Given the description of an element on the screen output the (x, y) to click on. 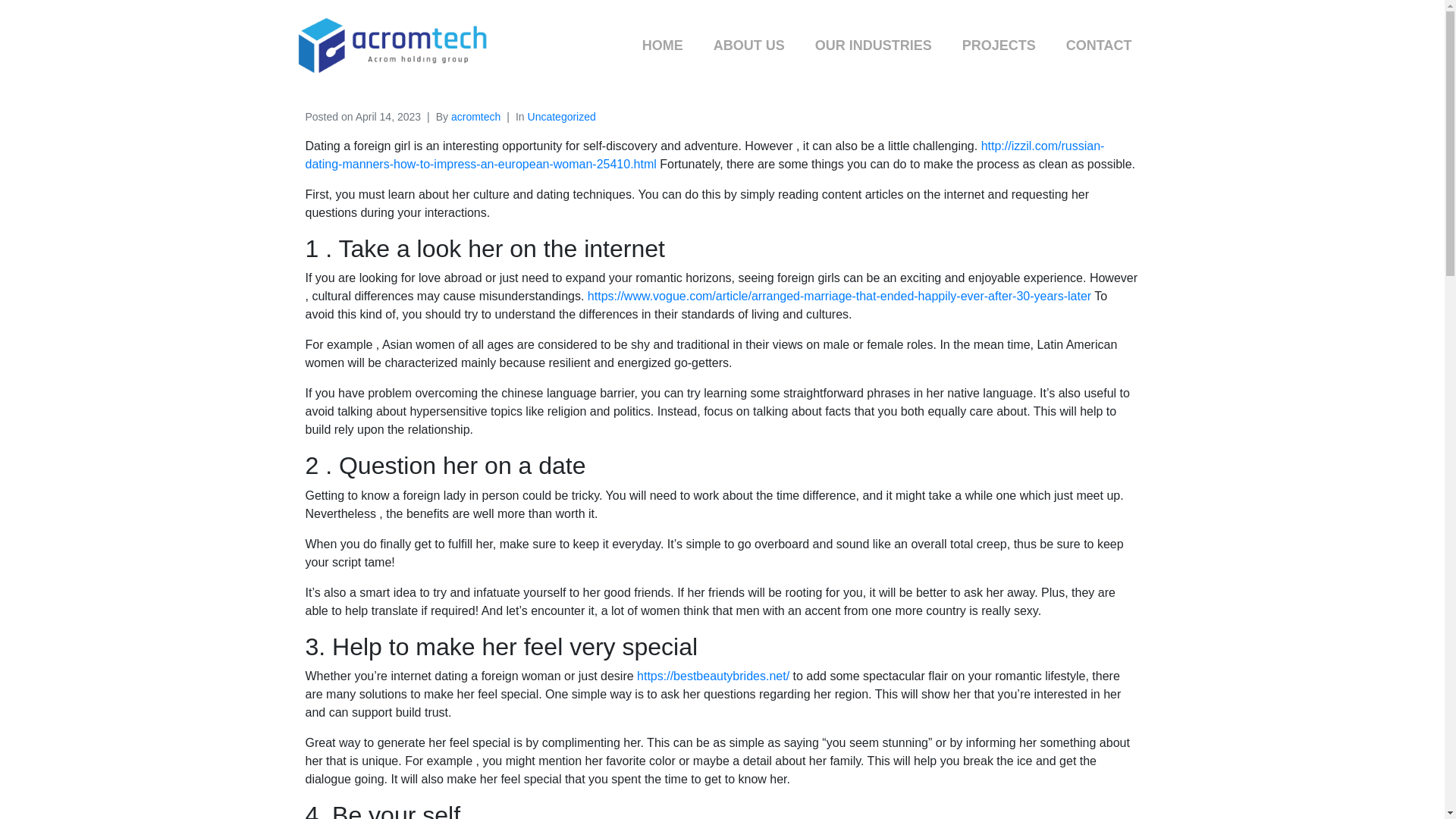
PROJECTS (999, 45)
ABOUT US (748, 45)
OUR INDUSTRIES (873, 45)
CONTACT (1099, 45)
HOME (662, 45)
